Given the description of an element on the screen output the (x, y) to click on. 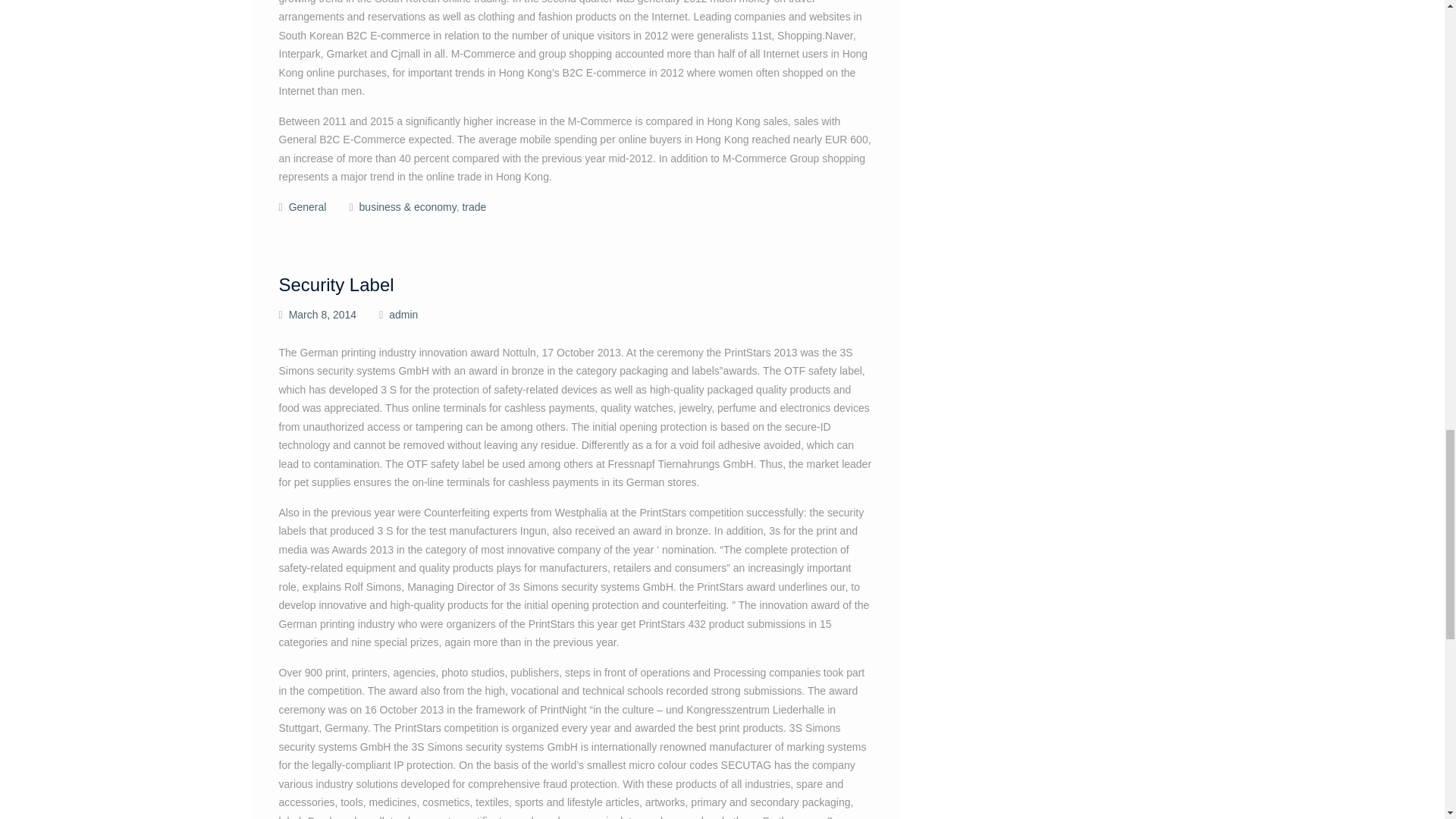
Security Label (336, 284)
General (307, 206)
trade (473, 206)
March 8, 2014 (322, 314)
admin (402, 314)
